Given the description of an element on the screen output the (x, y) to click on. 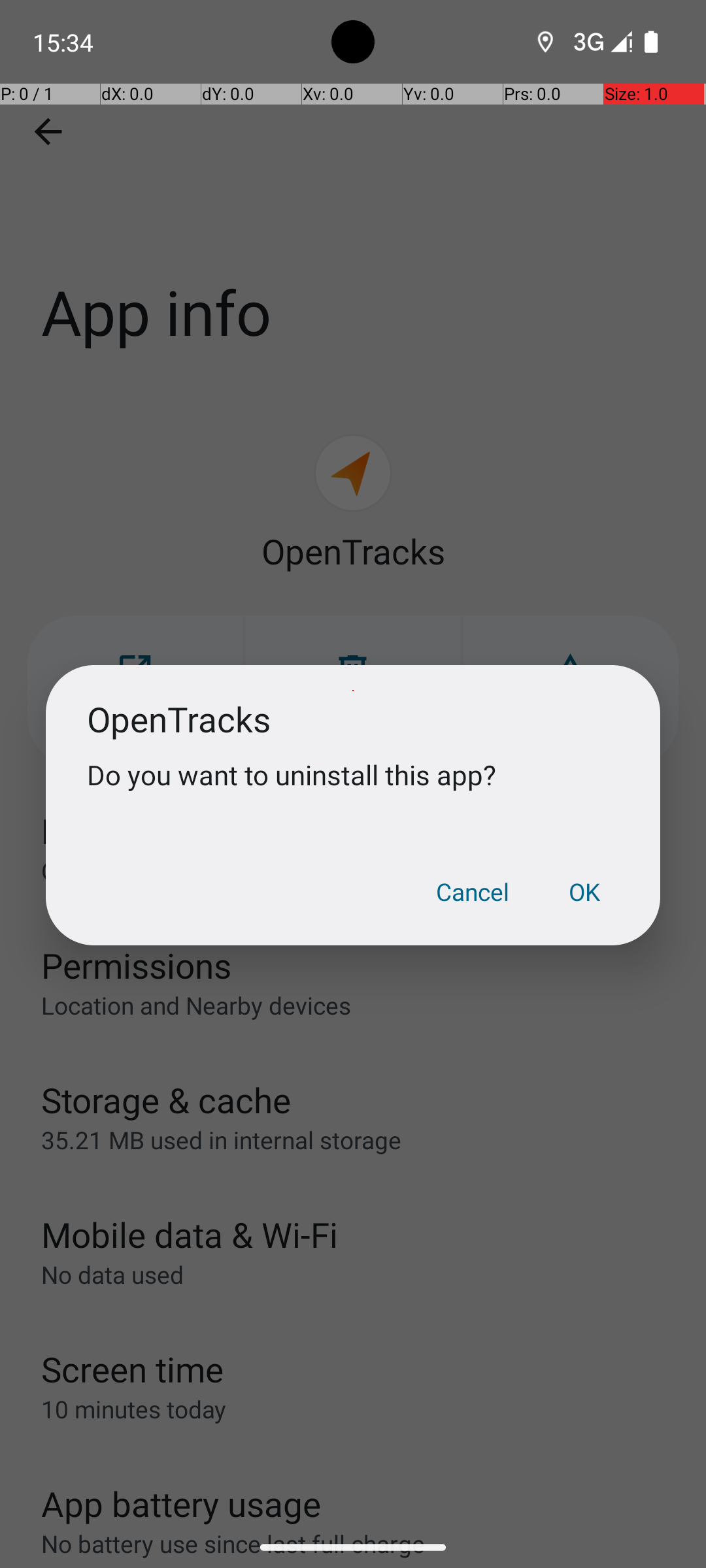
Do you want to uninstall this app? Element type: android.widget.TextView (352, 774)
